Given the description of an element on the screen output the (x, y) to click on. 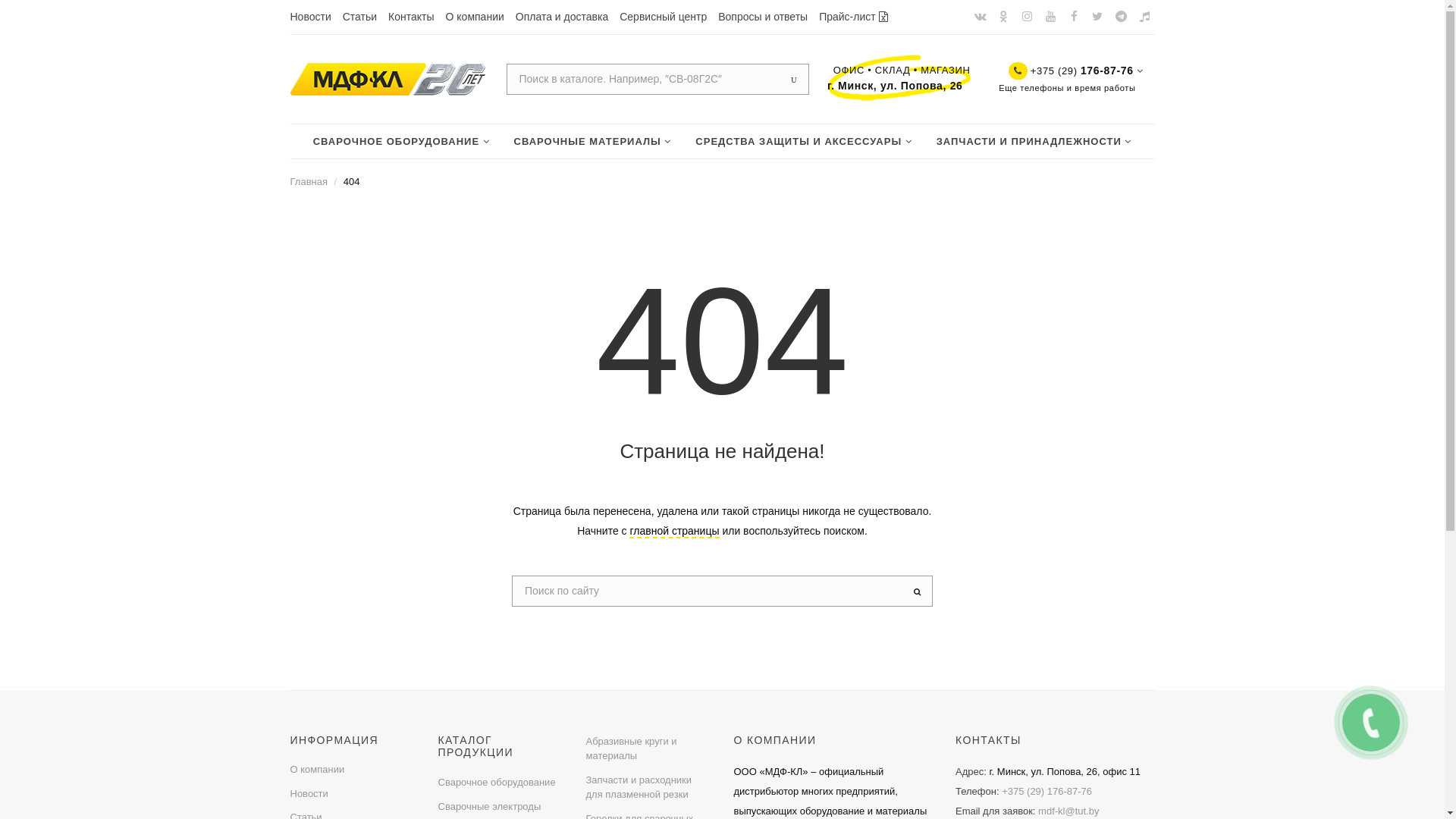
mdf-kl@tut.by Element type: text (1068, 810)
+375 (29) 176-87-76 Element type: text (1046, 791)
